Given the description of an element on the screen output the (x, y) to click on. 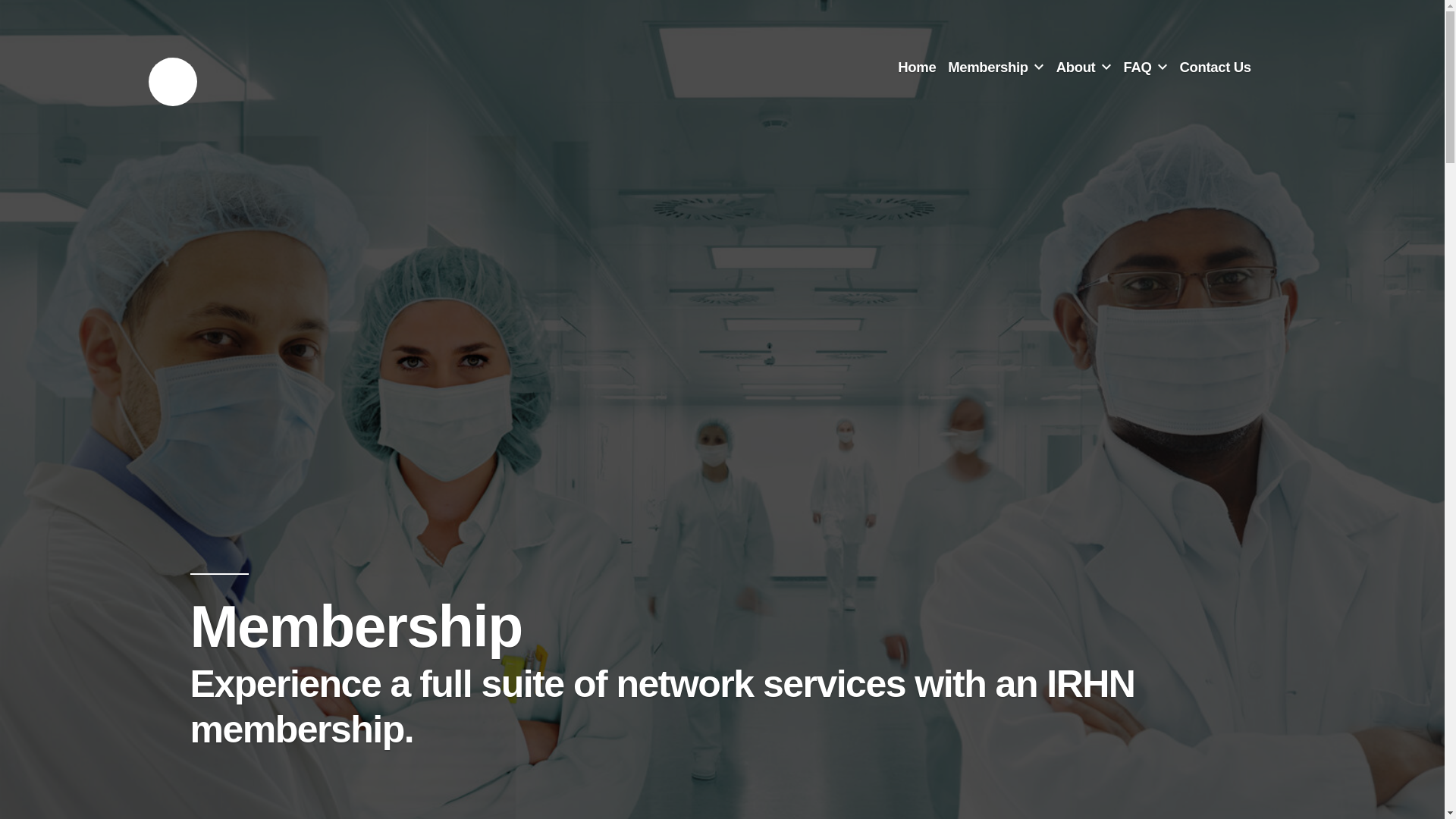
Home (917, 66)
Membership (987, 66)
Contact Us (1214, 66)
About (1076, 66)
FAQ (1136, 66)
